Given the description of an element on the screen output the (x, y) to click on. 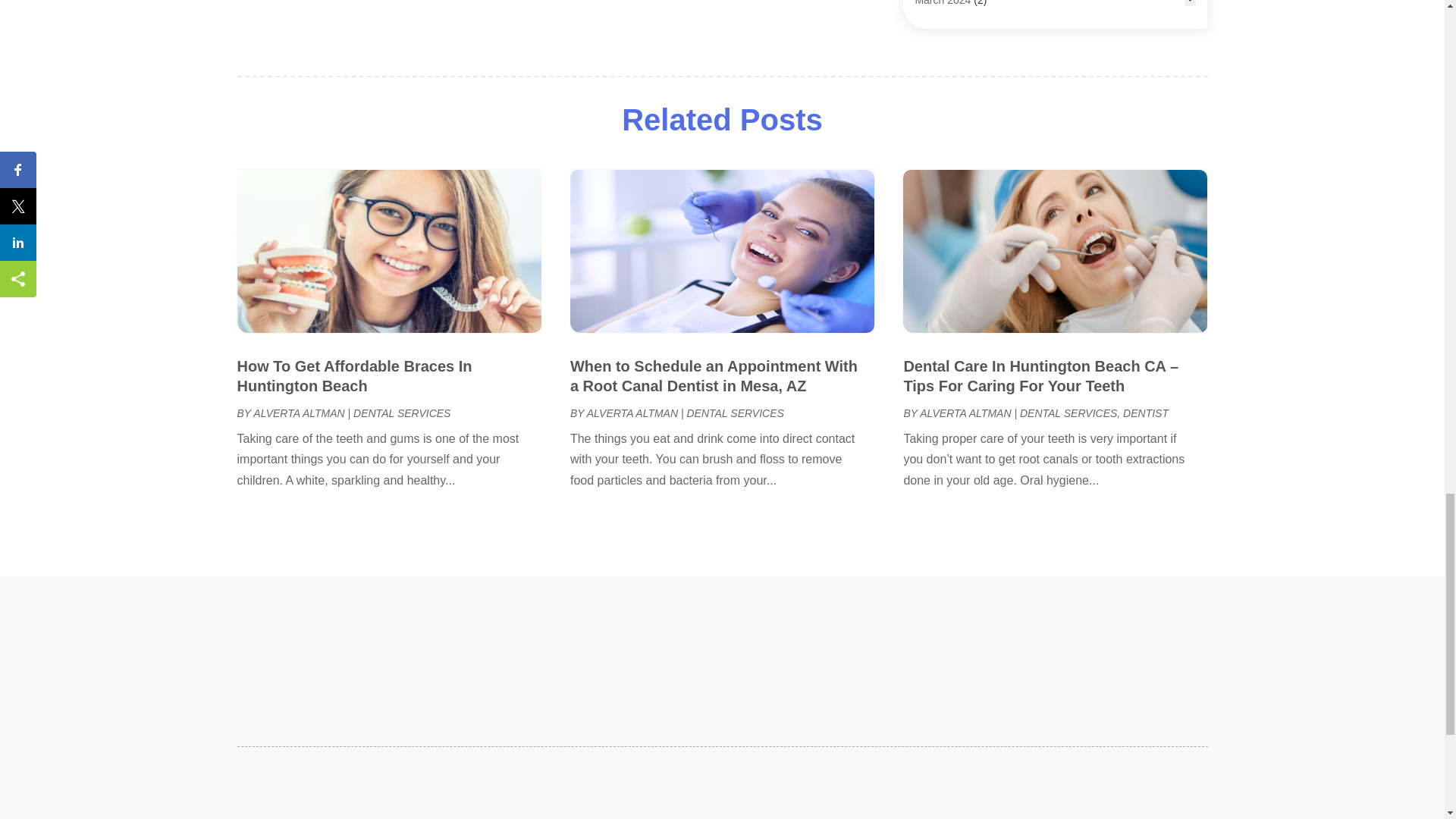
Posts by Alverta Altman (965, 413)
Posts by Alverta Altman (298, 413)
Posts by Alverta Altman (632, 413)
